Given the description of an element on the screen output the (x, y) to click on. 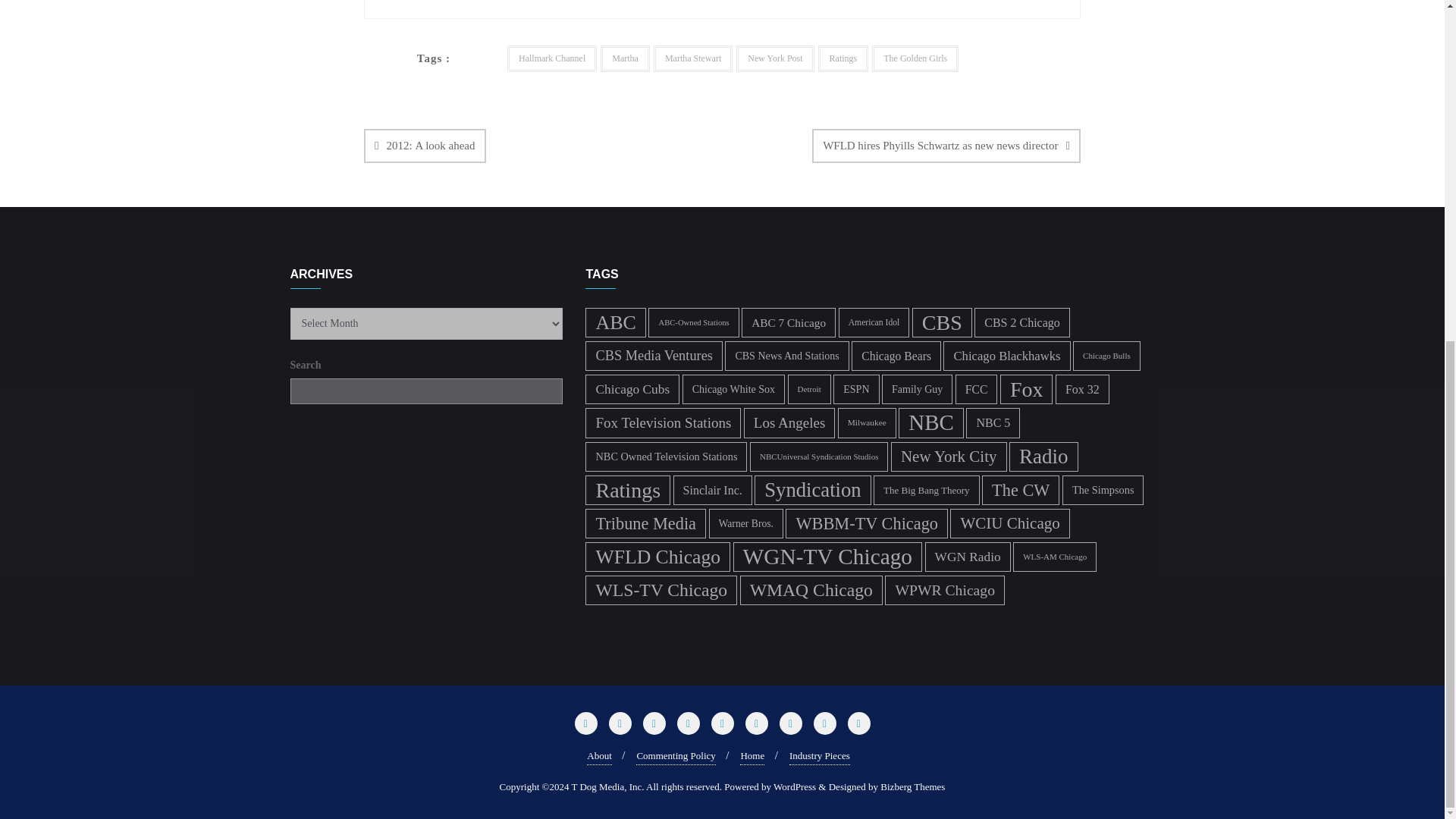
ABC 7 Chicago (788, 322)
ABC (615, 322)
ABC-Owned Stations (692, 322)
Martha (624, 58)
Ratings (843, 58)
2012: A look ahead (425, 145)
CBS 2 Chicago (1022, 322)
CBS Media Ventures (653, 356)
Hallmark Channel (551, 58)
New York Post (774, 58)
WFLD hires Phyills Schwartz as new news director (946, 145)
Martha Stewart (692, 58)
The Golden Girls (915, 58)
American Idol (874, 322)
CBS (942, 322)
